Given the description of an element on the screen output the (x, y) to click on. 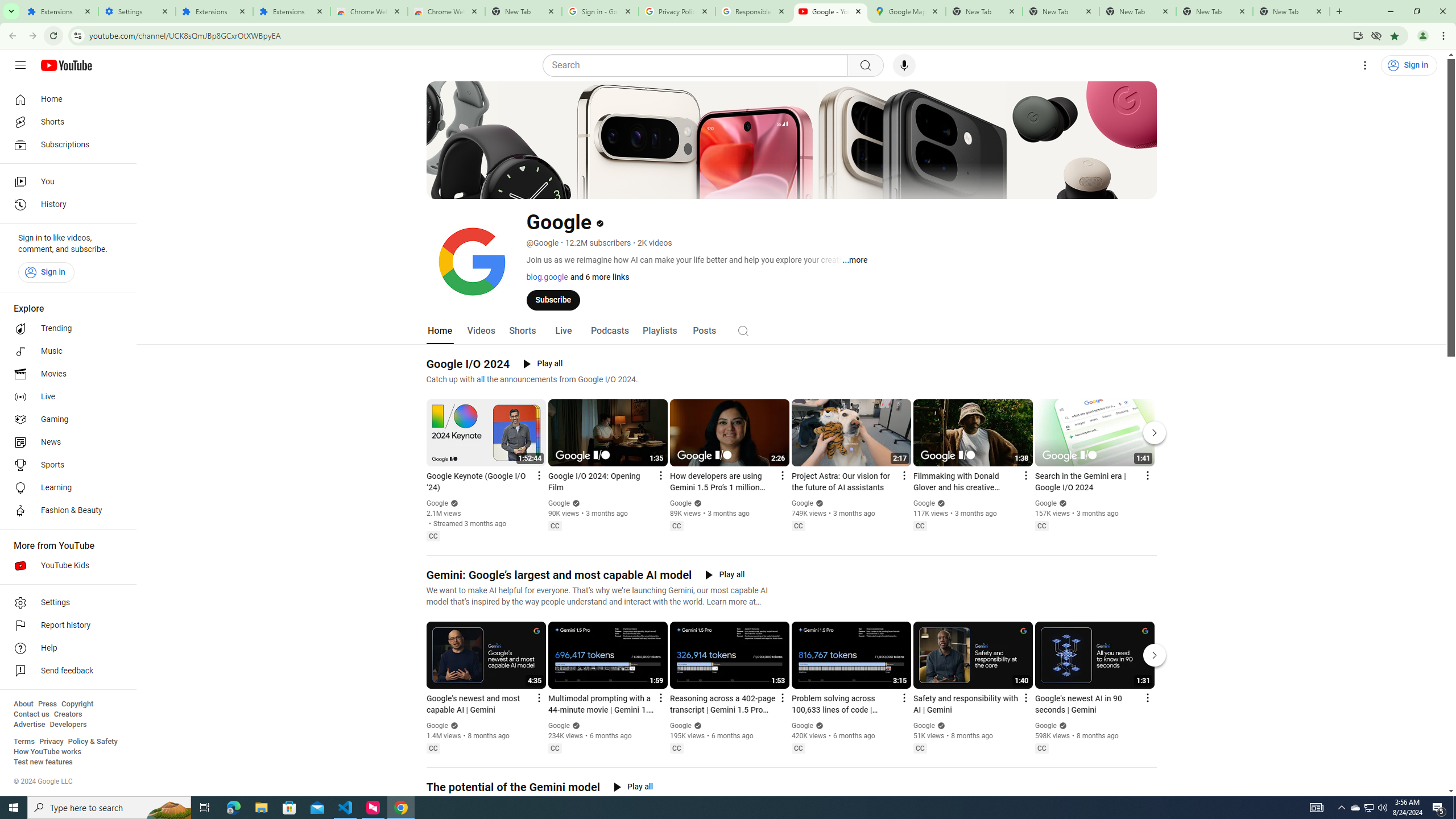
Google I/O 2024 (467, 363)
Music (64, 350)
Playlists (659, 330)
New Tab (523, 11)
